Given the description of an element on the screen output the (x, y) to click on. 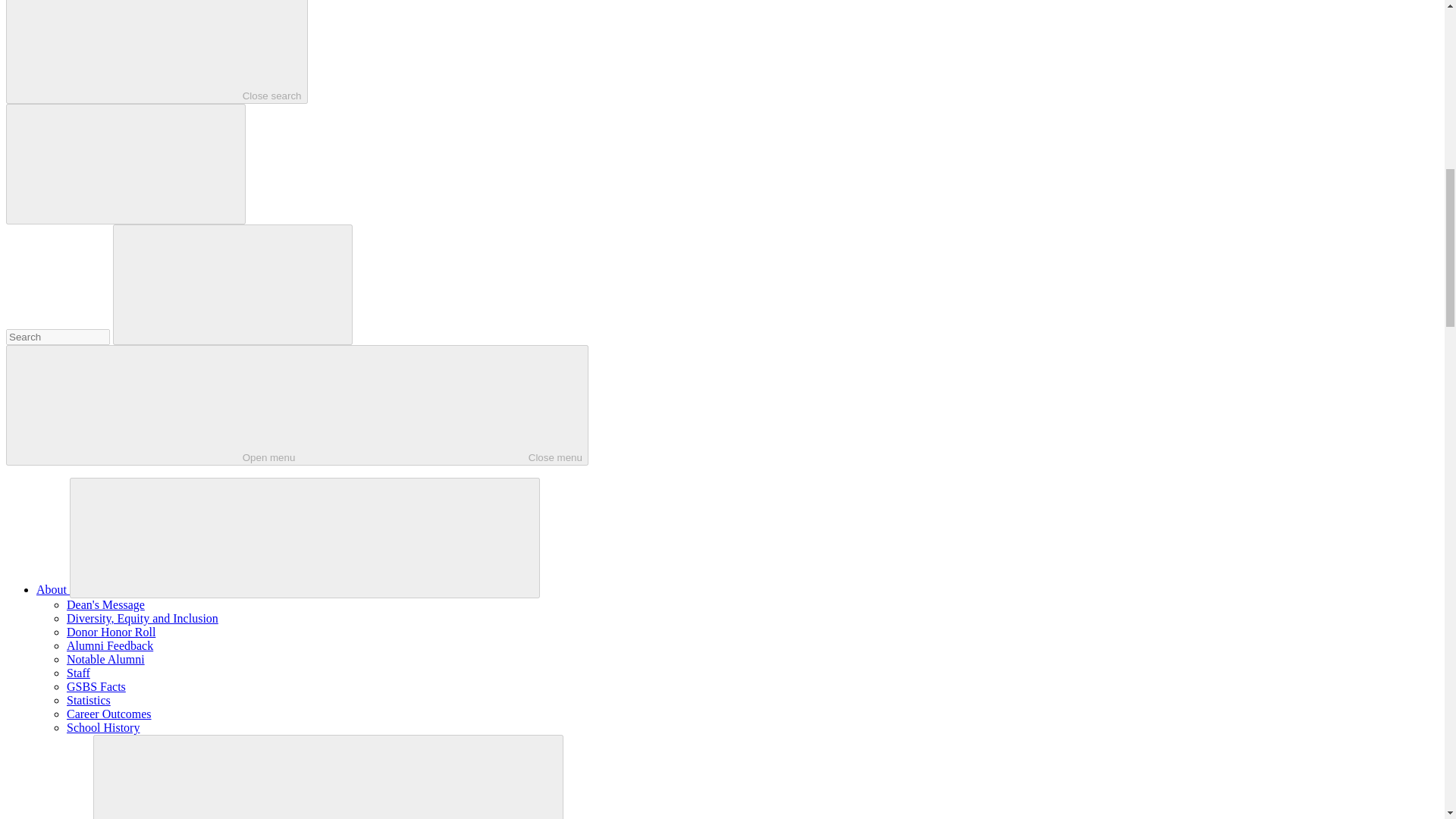
Dean's Message (105, 604)
School History (102, 727)
Alumni Feedback (109, 645)
Diversity, Equity and Inclusion (142, 617)
Notable Alumni (105, 658)
GSBS Facts (95, 686)
Search (156, 52)
Career Outcomes (57, 336)
Staff (108, 713)
Donor Honor Roll (78, 672)
Open menu Close menu (110, 631)
About (296, 405)
Statistics (52, 589)
